Given the description of an element on the screen output the (x, y) to click on. 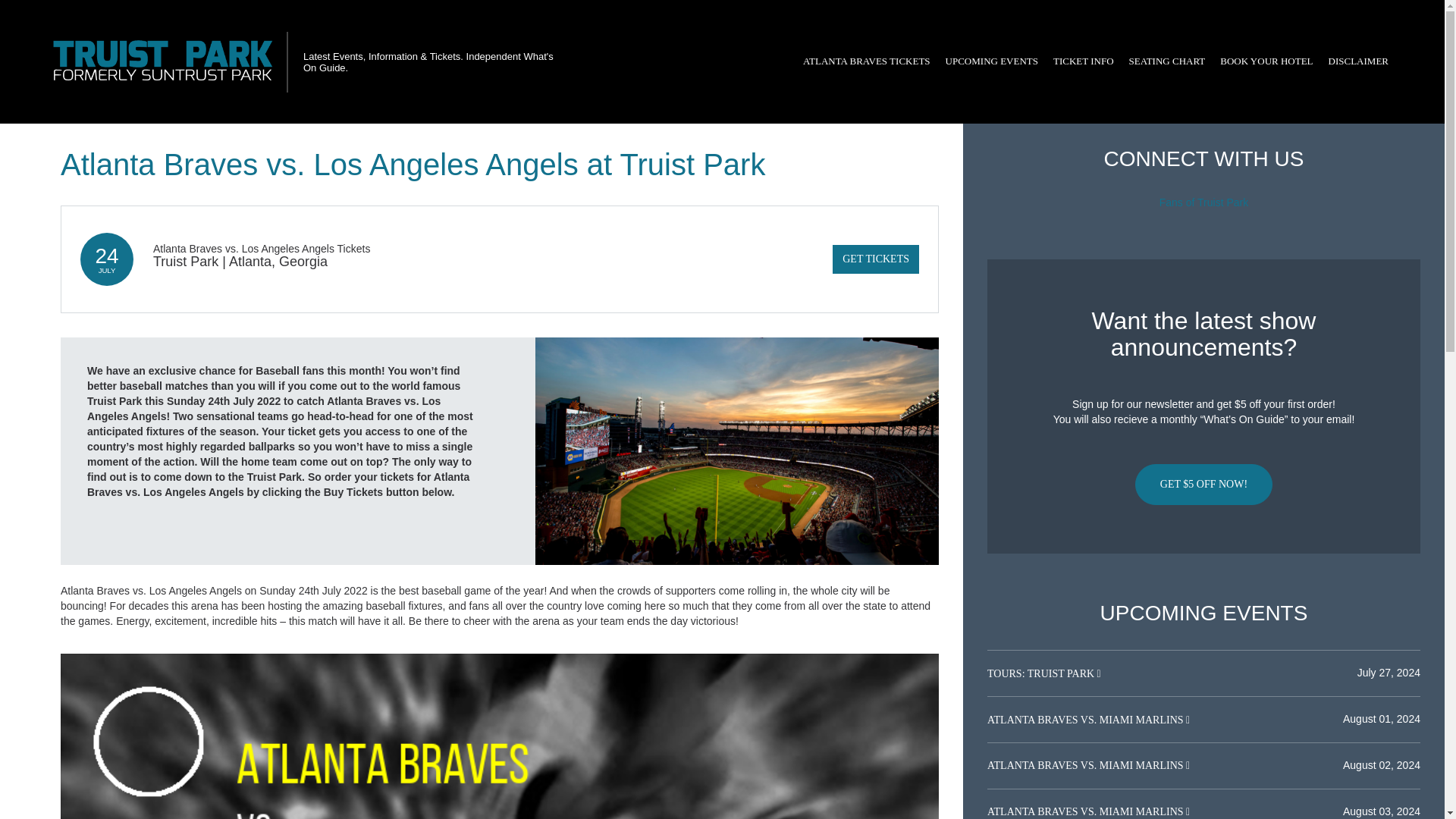
Atlanta Braves vs. Los Angeles Angels Tickets (260, 248)
GET TICKETS (875, 258)
TICKET INFO (1083, 61)
SEATING CHART (1166, 61)
BOOK YOUR HOTEL (1266, 61)
Fans of Truist Park (1202, 202)
ATLANTA BRAVES TICKETS (865, 61)
Atlanta Braves vs. Los Angeles Angels at Truist Park (737, 451)
UPCOMING EVENTS (991, 61)
DISCLAIMER (1358, 61)
